Given the description of an element on the screen output the (x, y) to click on. 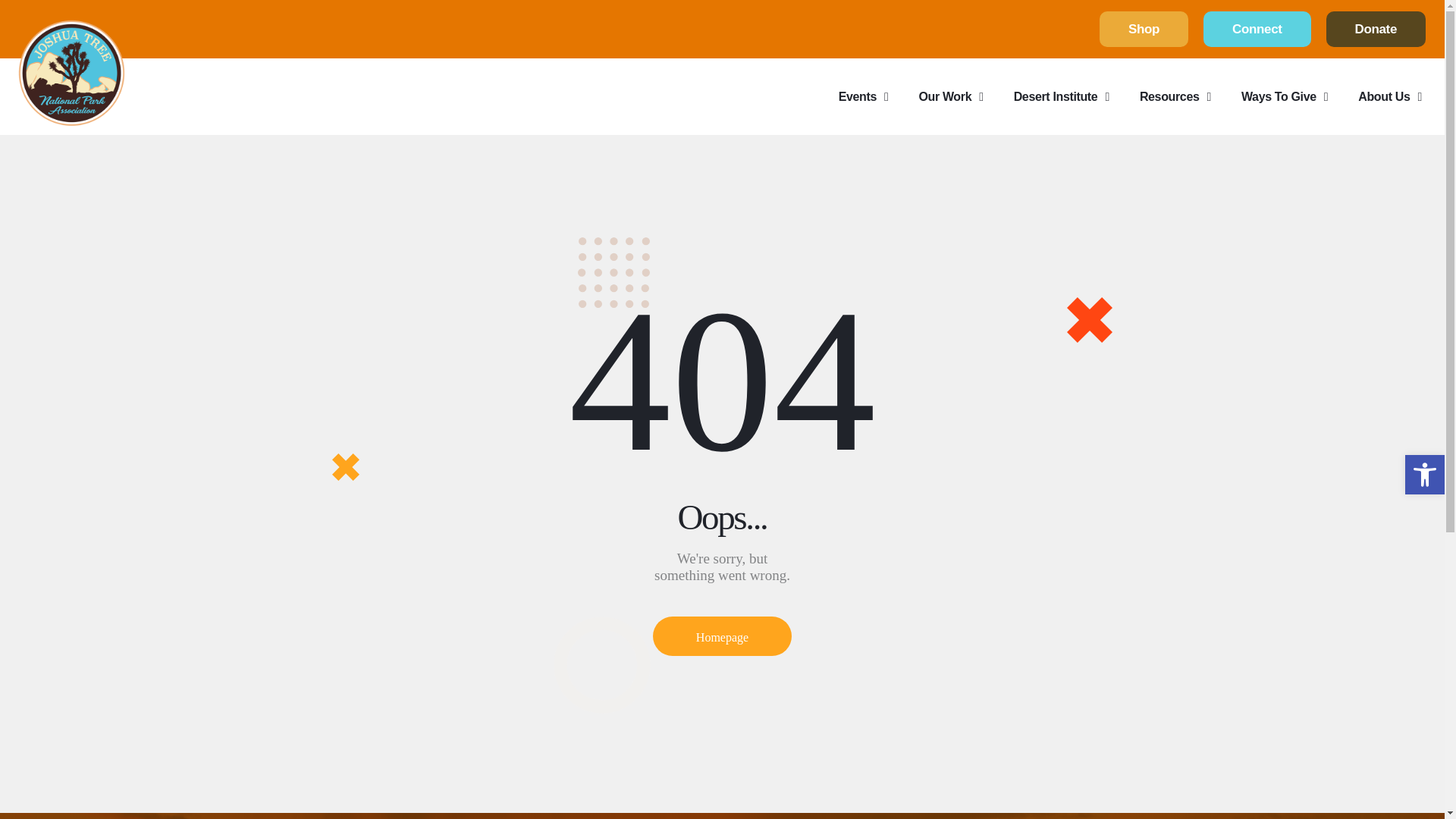
Events (864, 95)
Our Work (949, 95)
Shop (1143, 28)
Accessibility Tools (1424, 474)
Desert Institute (1061, 95)
Donate (1375, 28)
Connect (1257, 28)
